Given the description of an element on the screen output the (x, y) to click on. 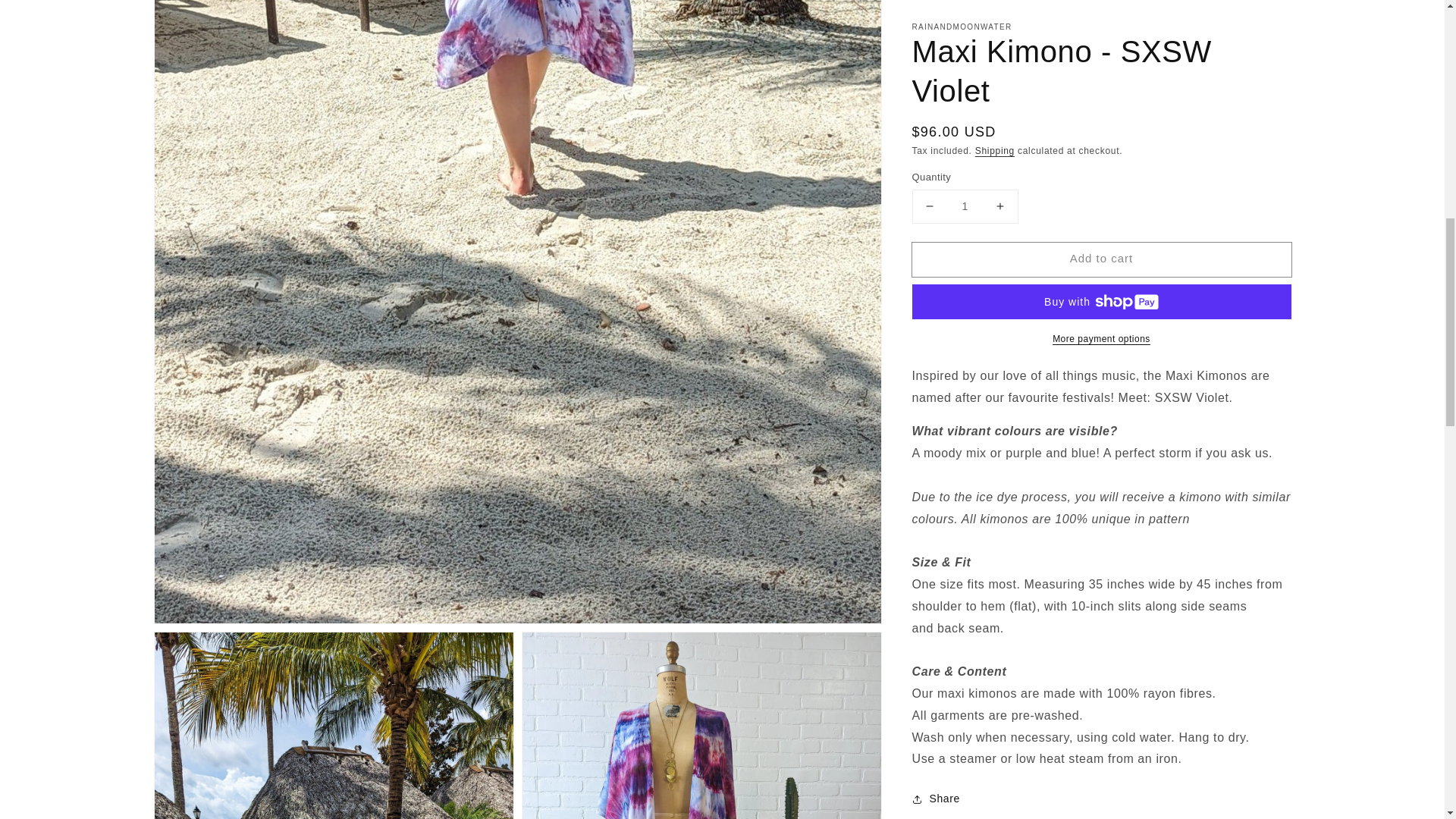
Open media 2 in gallery view (333, 725)
Open media 3 in gallery view (700, 725)
